Given the description of an element on the screen output the (x, y) to click on. 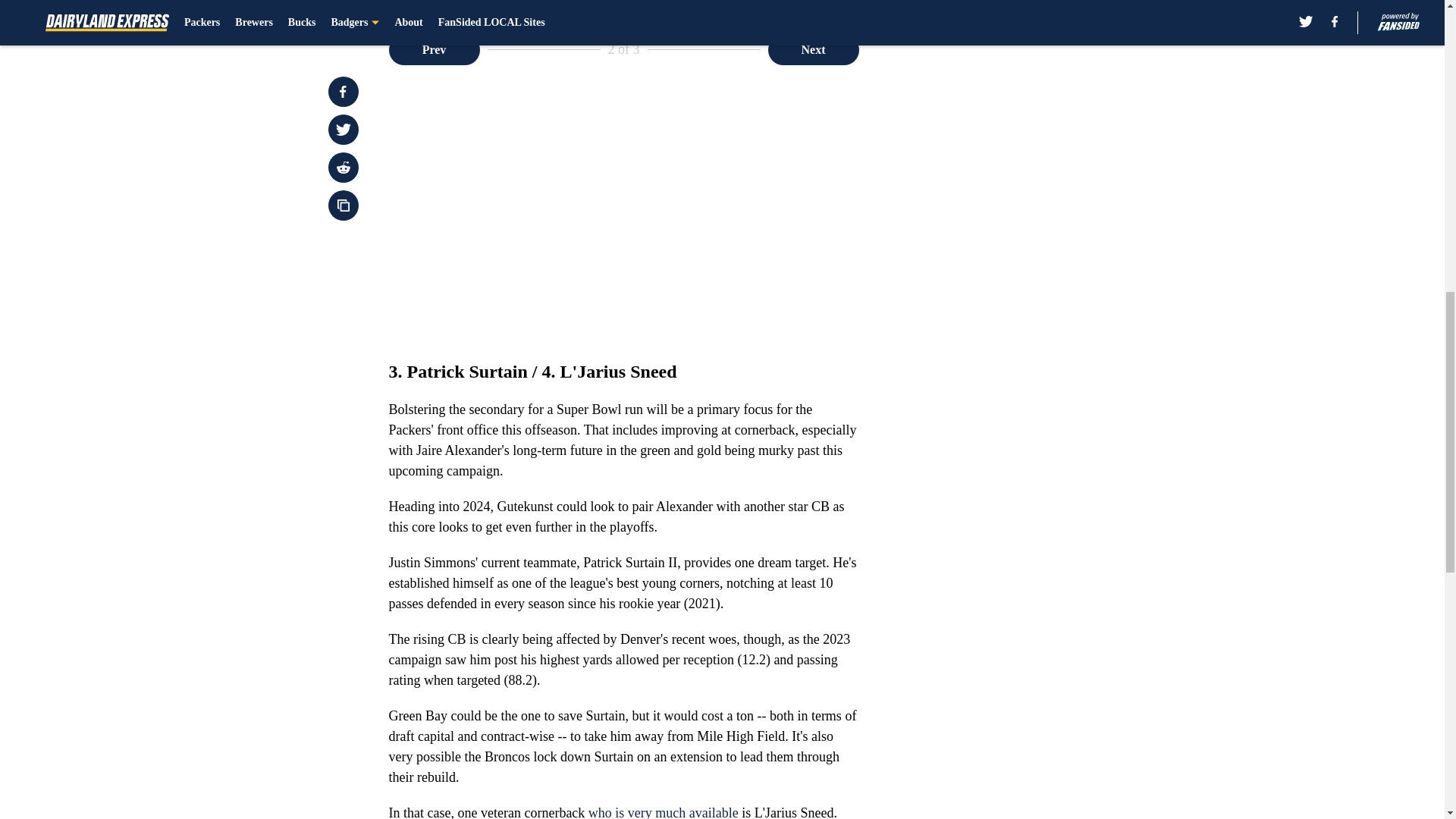
Next (813, 50)
who is very much available (663, 812)
Prev (433, 50)
